Given the description of an element on the screen output the (x, y) to click on. 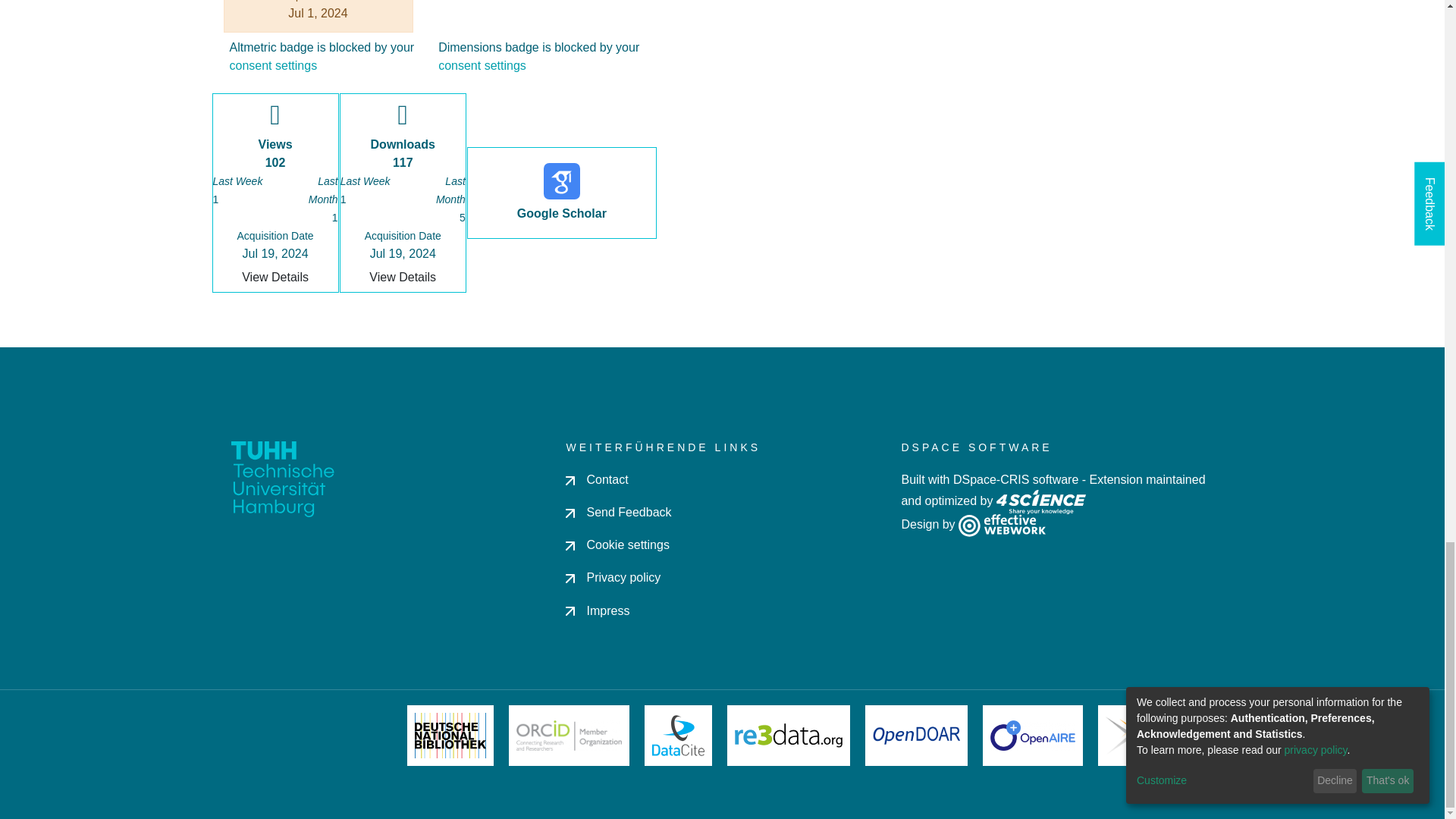
effective webwork GmbH Hamburg (1001, 523)
